Given the description of an element on the screen output the (x, y) to click on. 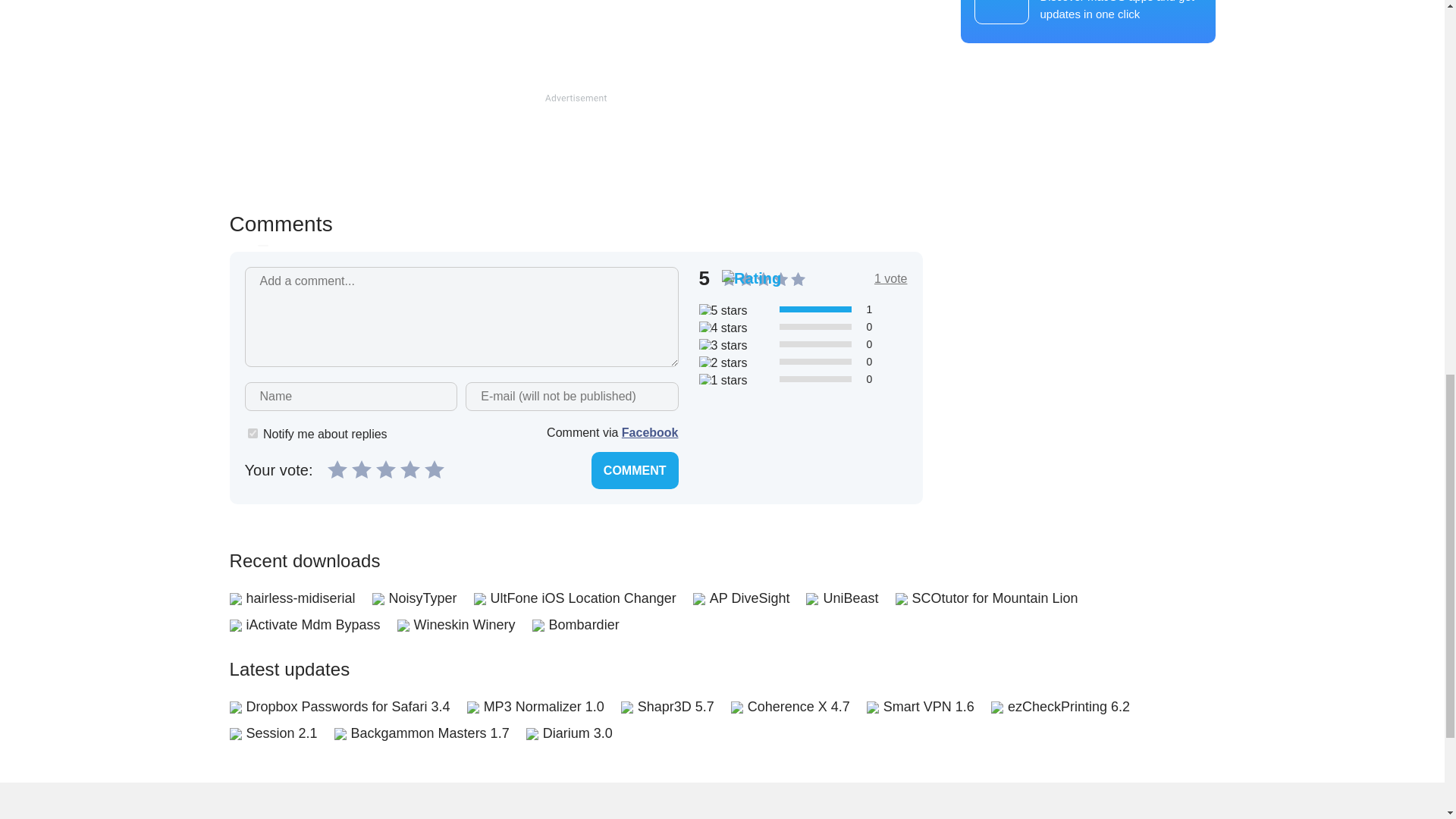
1 (336, 468)
Comment (634, 470)
1 (252, 433)
5 (434, 468)
Comment (634, 470)
hairless-midiserial (300, 598)
3 (385, 468)
2 (361, 468)
4 (409, 468)
1 vote (891, 278)
